Given the description of an element on the screen output the (x, y) to click on. 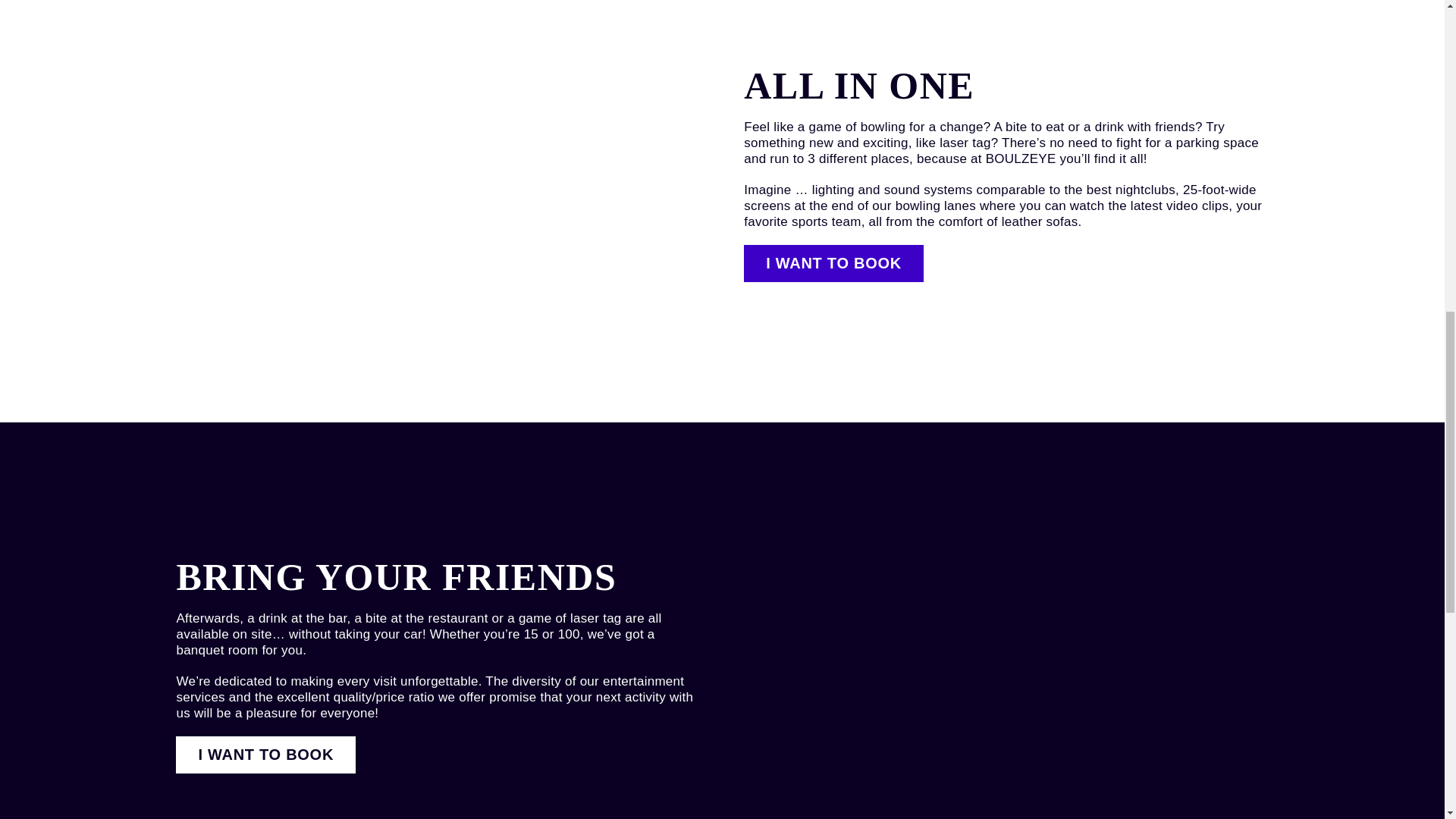
I WANT TO BOOK (265, 754)
I WANT TO BOOK (833, 262)
